Given the description of an element on the screen output the (x, y) to click on. 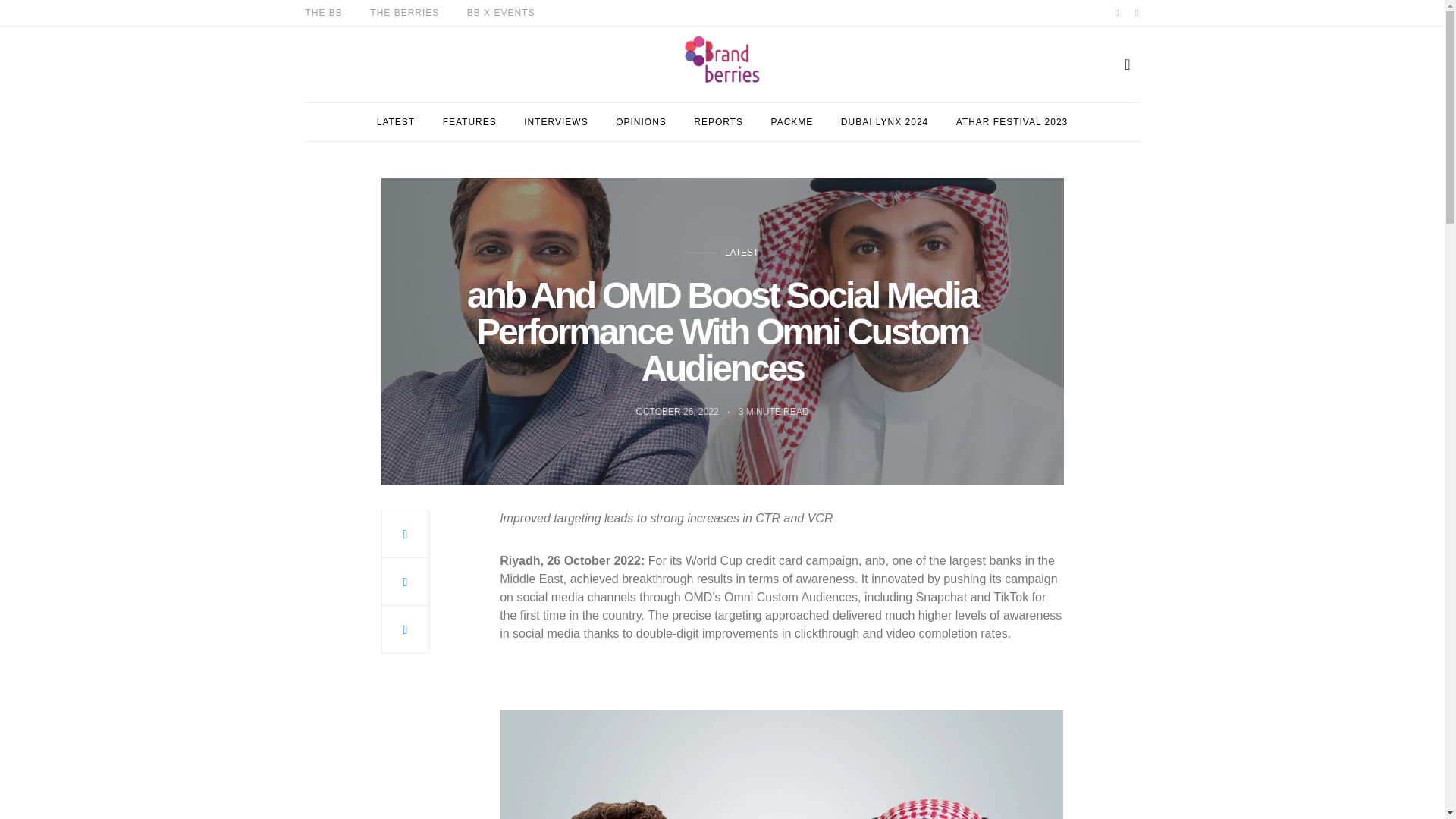
OPINIONS (640, 121)
REPORTS (718, 121)
FEATURES (469, 121)
PACKME (792, 121)
INTERVIEWS (556, 121)
LATEST (395, 121)
THE BB (323, 12)
LATEST (741, 252)
ATHAR FESTIVAL 2023 (1012, 121)
THE BERRIES (404, 12)
